Given the description of an element on the screen output the (x, y) to click on. 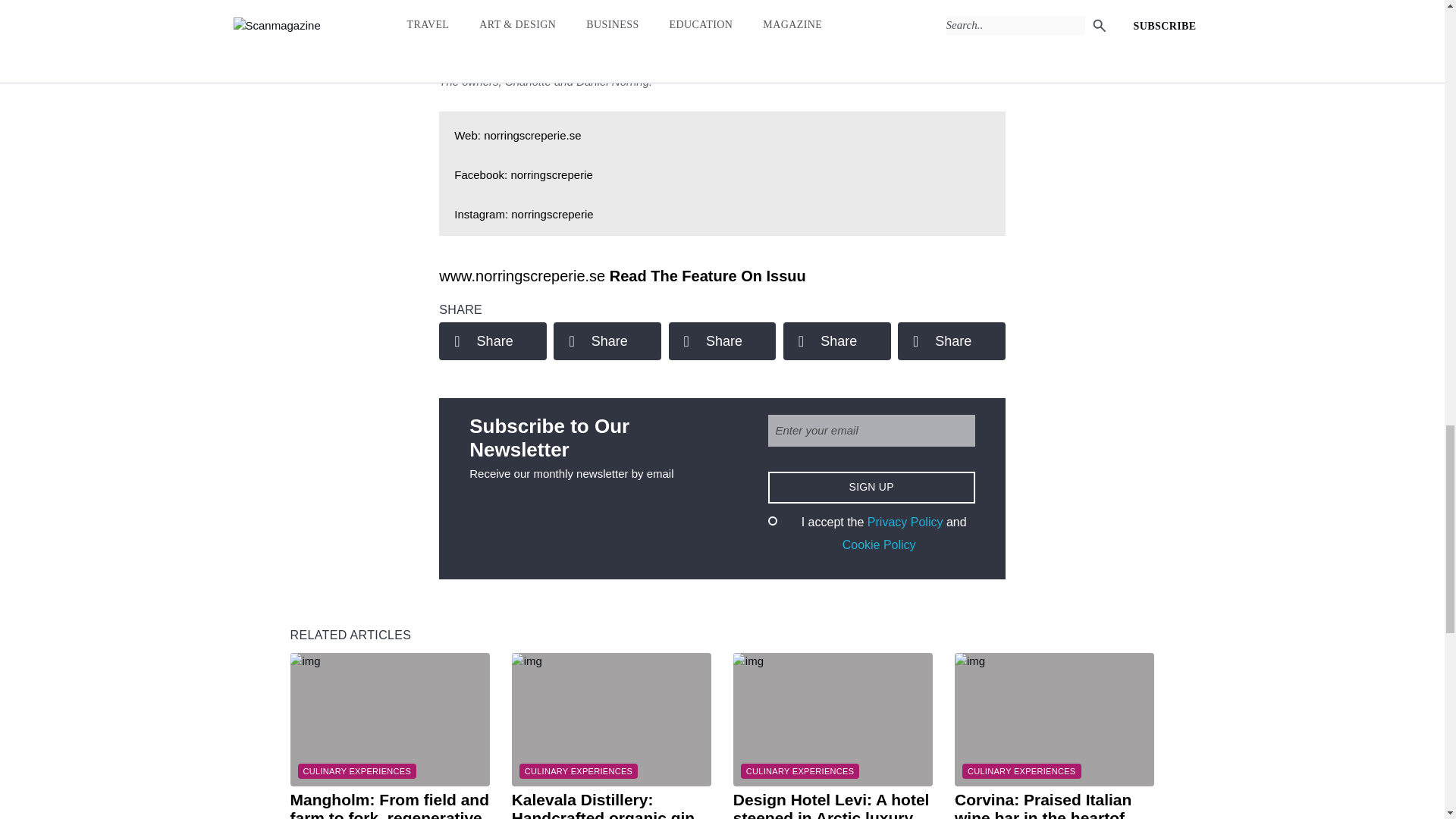
Sign Up (870, 487)
